Given the description of an element on the screen output the (x, y) to click on. 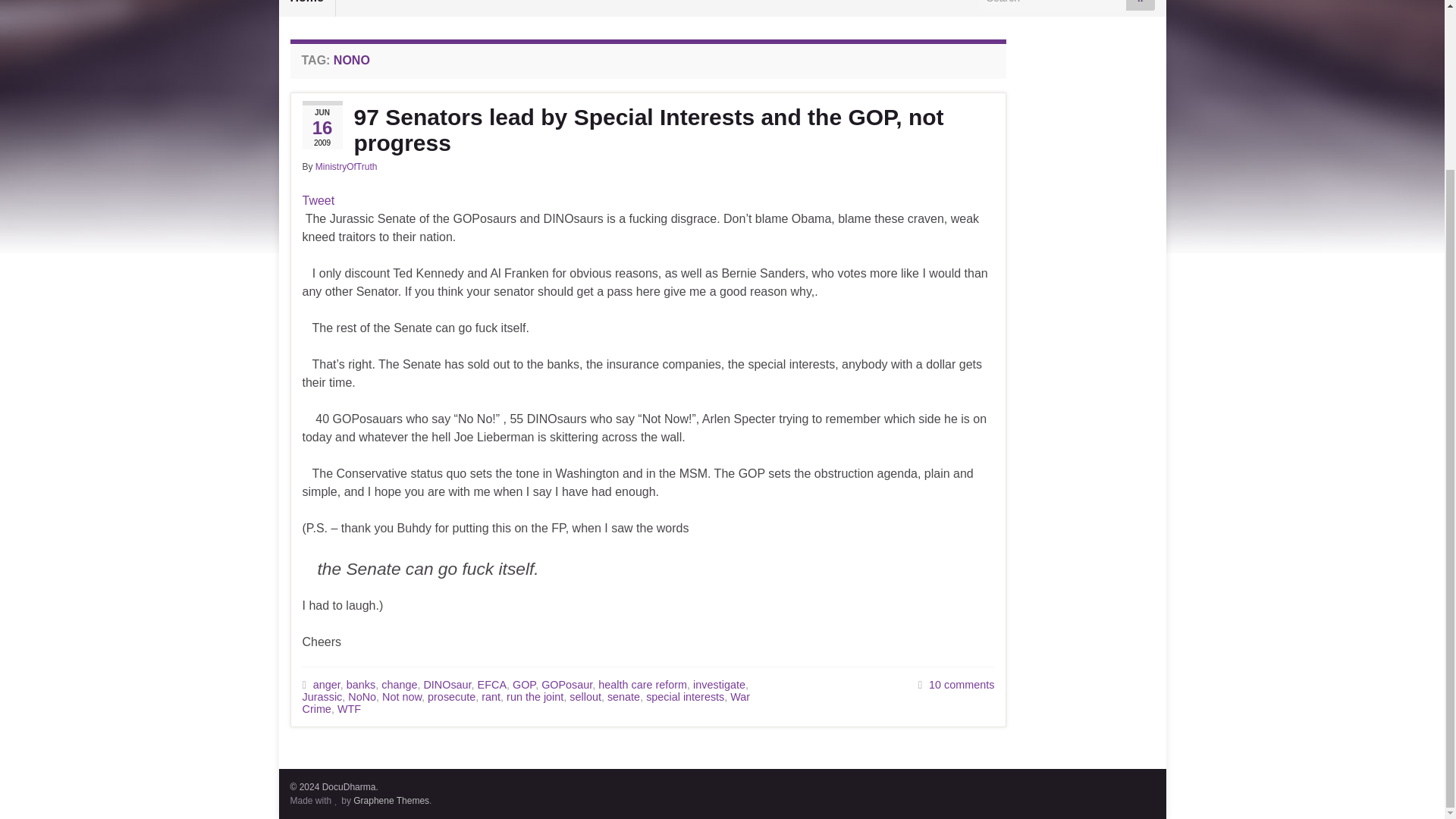
investigate (719, 684)
War Crime (525, 702)
GOP (523, 684)
Not now (401, 696)
DINOsaur (446, 684)
GOPosaur (566, 684)
10 comments (961, 684)
sellout (585, 696)
prosecute (452, 696)
special interests (684, 696)
